Given the description of an element on the screen output the (x, y) to click on. 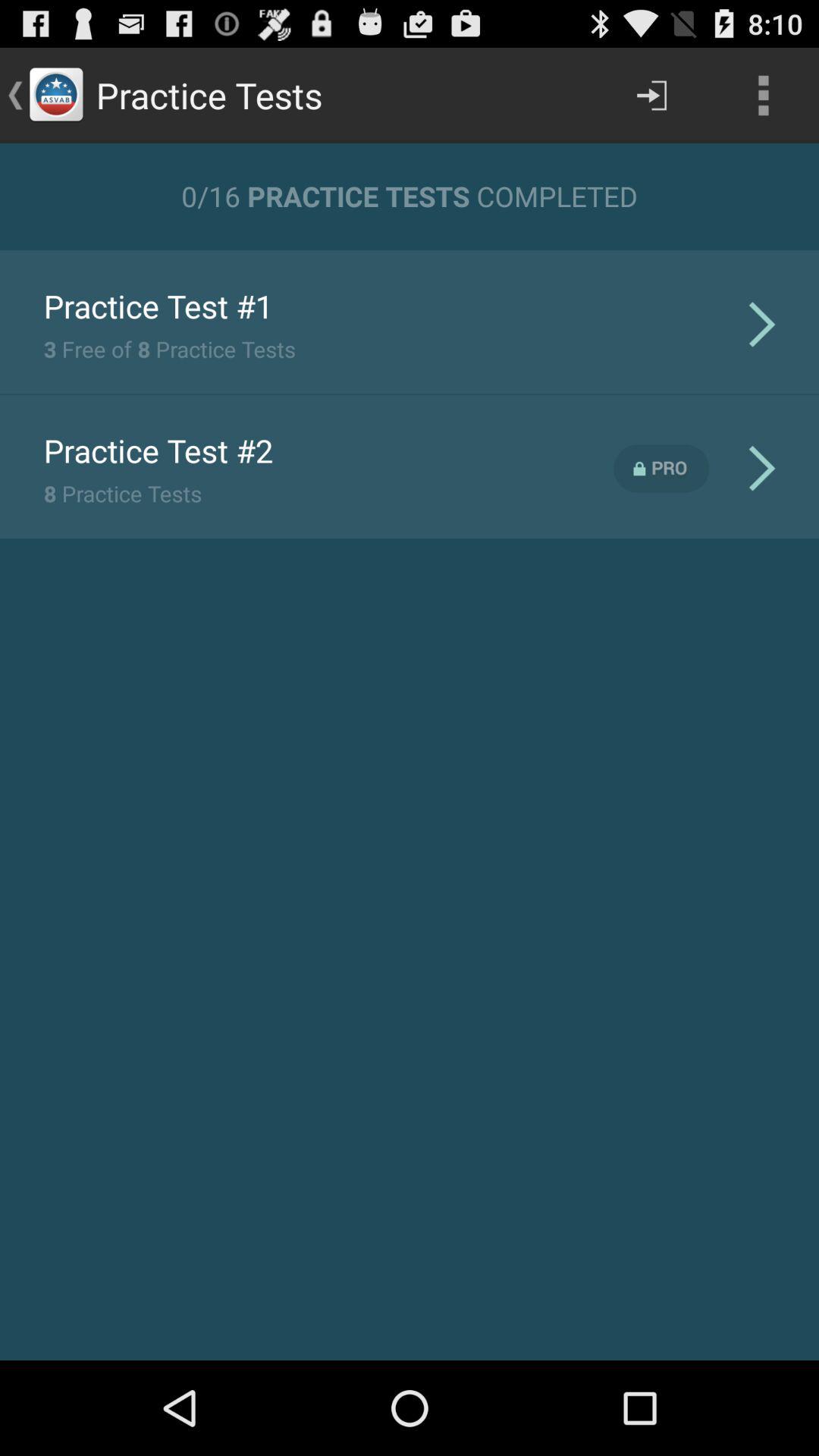
choose item above 0 16 practice item (651, 95)
